Given the description of an element on the screen output the (x, y) to click on. 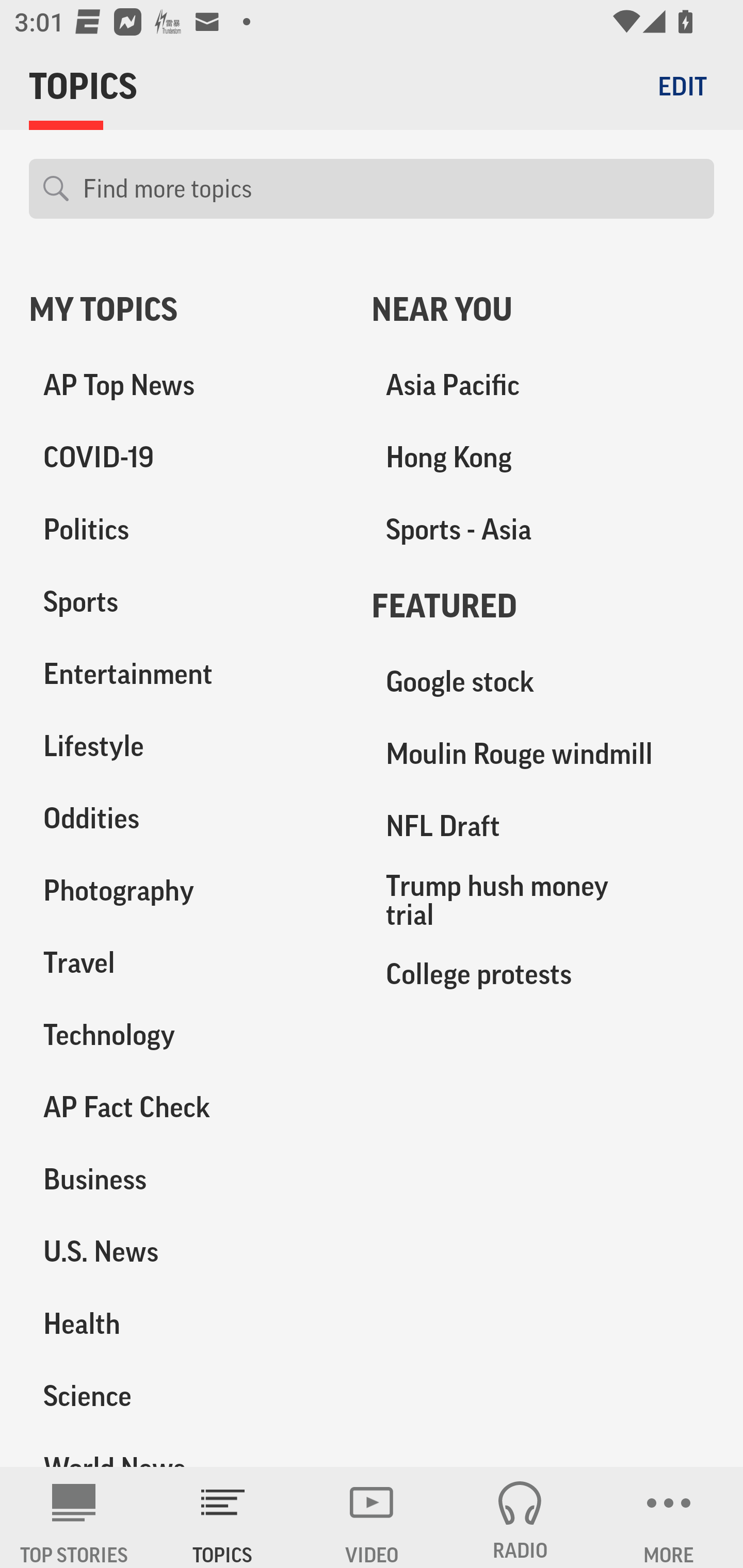
EDIT (682, 86)
Find more topics (391, 188)
AP Top News (185, 385)
Asia Pacific (542, 385)
COVID-19 (185, 457)
Hong Kong (542, 457)
Politics (185, 529)
Sports - Asia (542, 529)
Sports (185, 602)
Entertainment (185, 674)
Google stock (542, 682)
Lifestyle (185, 746)
Moulin Rouge windmill (542, 754)
Oddities (185, 818)
NFL Draft (542, 826)
Photography (185, 890)
Trump hush money trial (542, 899)
Travel (185, 962)
College protests (542, 973)
Technology (185, 1034)
AP Fact Check (185, 1106)
Business (185, 1179)
U.S. News (185, 1251)
Health (185, 1323)
Science (185, 1395)
AP News TOP STORIES (74, 1517)
TOPICS (222, 1517)
VIDEO (371, 1517)
RADIO (519, 1517)
MORE (668, 1517)
